Given the description of an element on the screen output the (x, y) to click on. 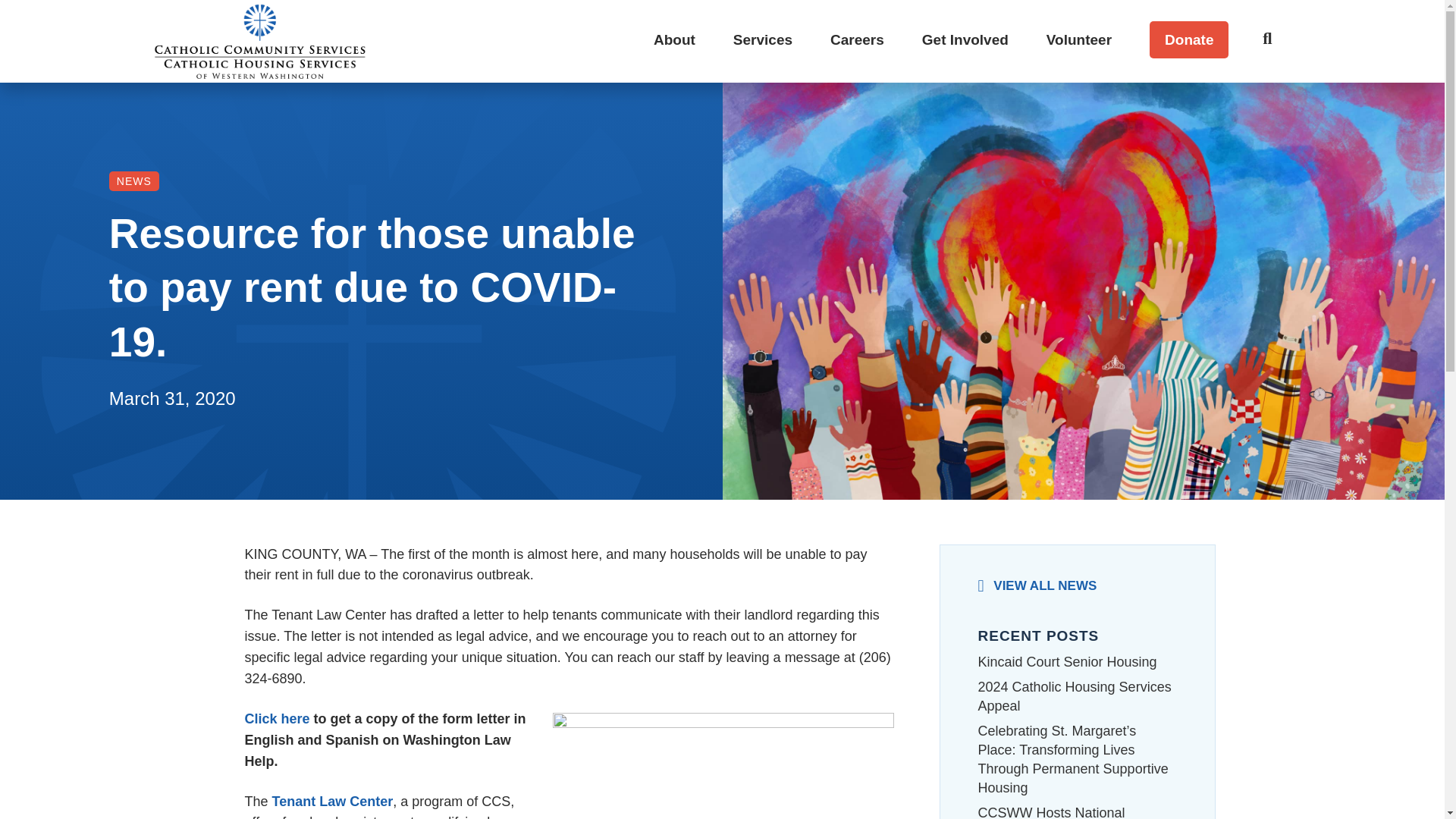
CCS CHS WW Logo (258, 41)
Donate (1189, 39)
Tenant Law Center (332, 801)
Click here (276, 718)
Careers (857, 39)
Volunteer (1078, 39)
NEWS (133, 181)
Get Involved (965, 39)
About (674, 39)
Services (762, 39)
